Given the description of an element on the screen output the (x, y) to click on. 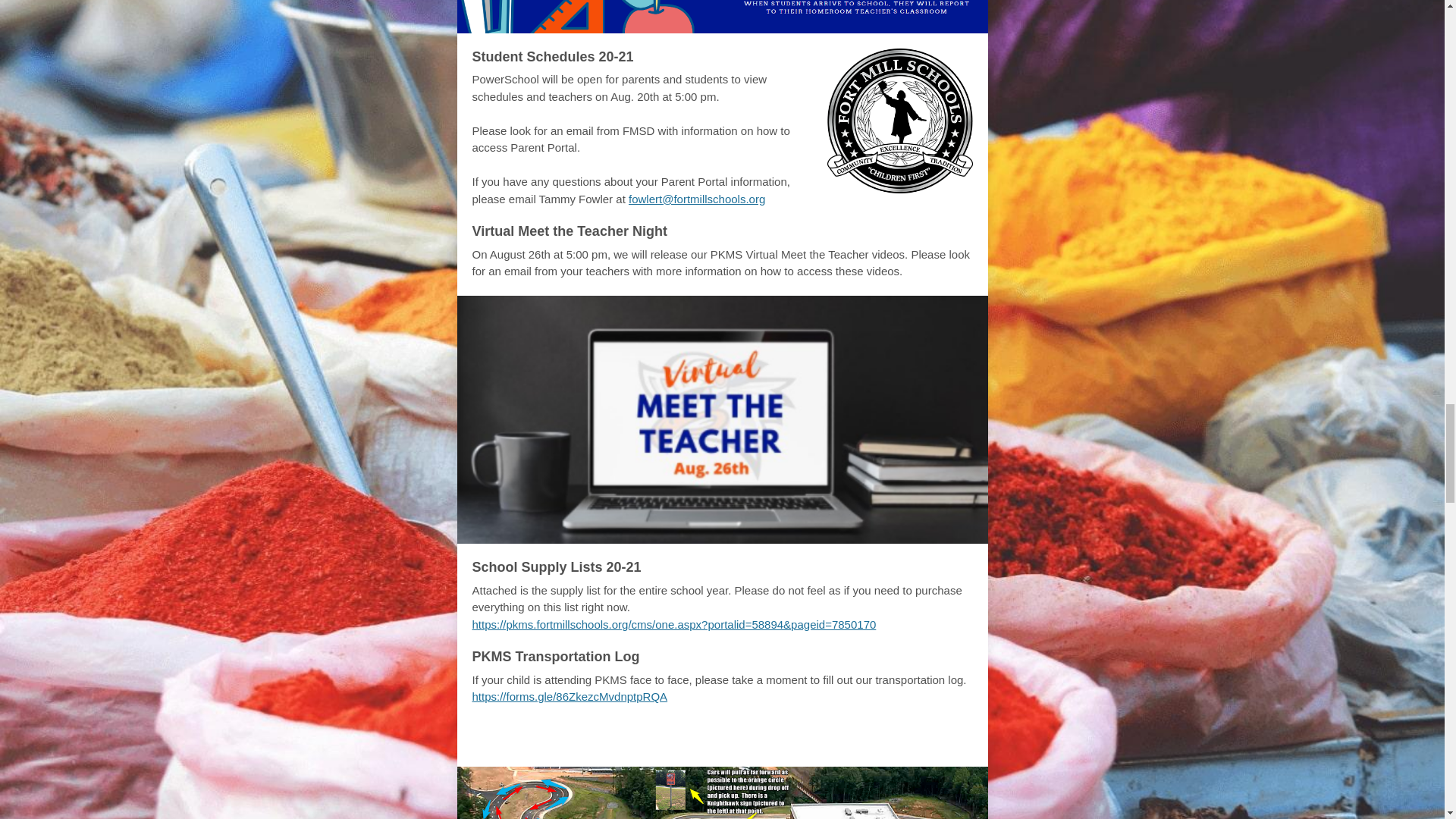
Car (595, 739)
Rider (643, 739)
Drop (699, 739)
Directions (815, 739)
Off (745, 739)
